Given the description of an element on the screen output the (x, y) to click on. 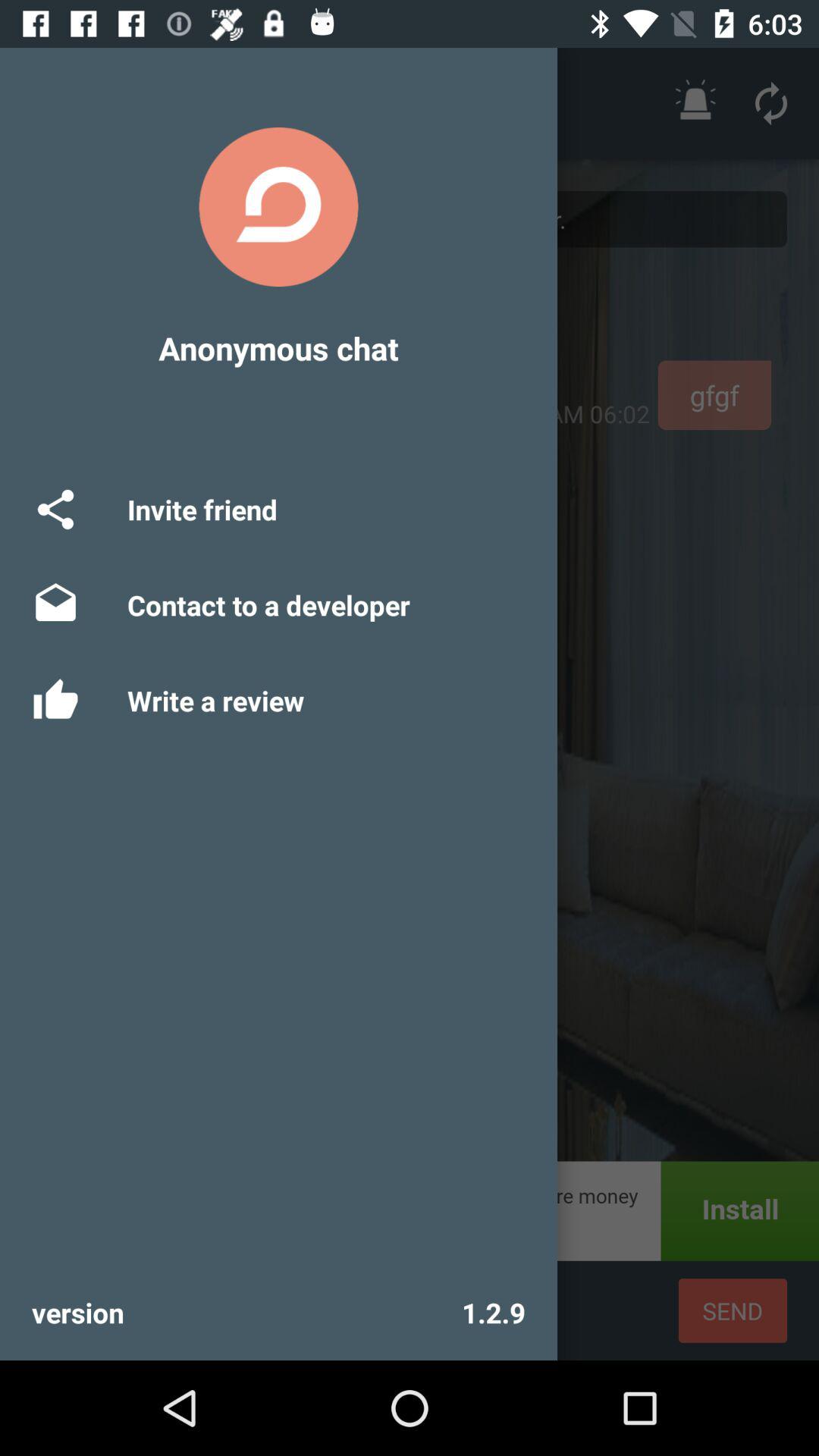
click on the icon which is beside the text contact to developer (55, 604)
